Given the description of an element on the screen output the (x, y) to click on. 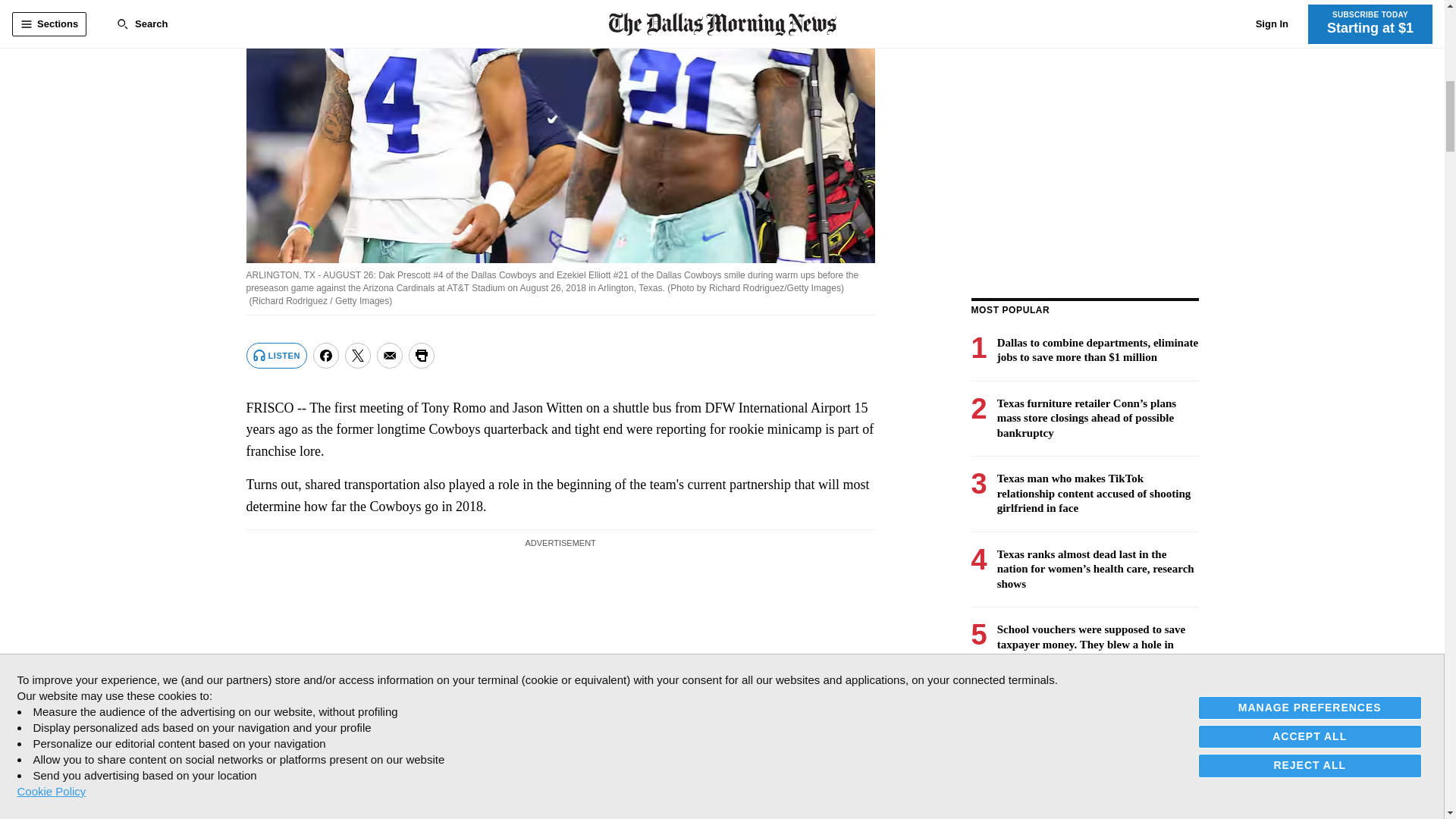
Share via Email (390, 355)
Print (421, 355)
Share on Twitter (358, 355)
Share on Facebook (326, 355)
